Given the description of an element on the screen output the (x, y) to click on. 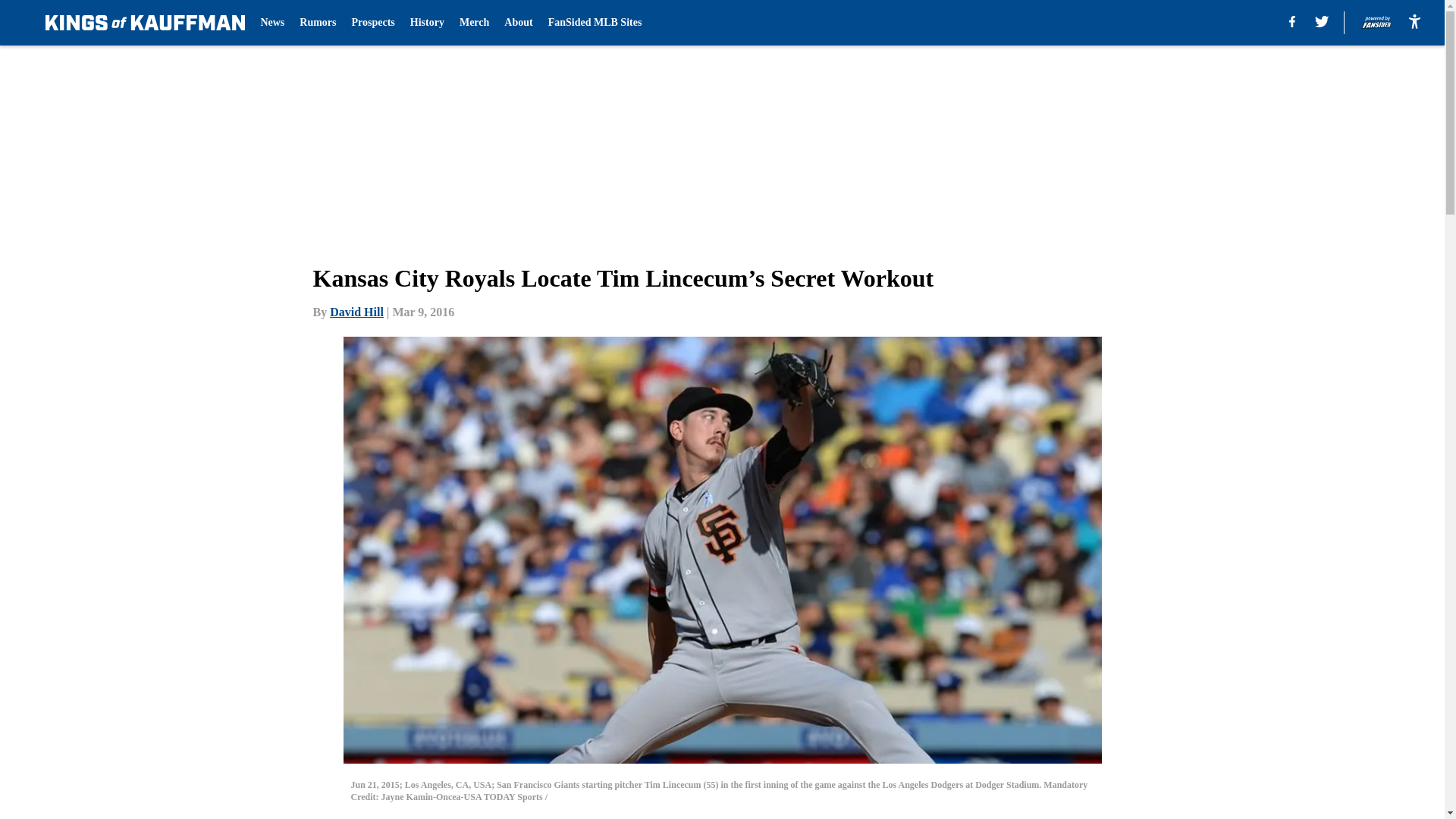
History (427, 22)
Prospects (373, 22)
David Hill (357, 311)
Merch (474, 22)
About (517, 22)
News (271, 22)
FanSided MLB Sites (595, 22)
Rumors (317, 22)
